Given the description of an element on the screen output the (x, y) to click on. 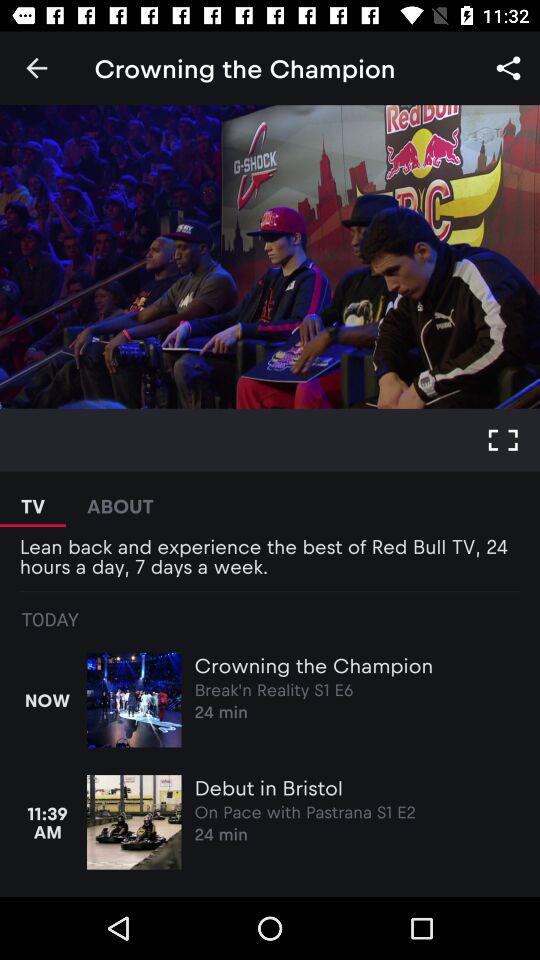
click on about  which is on right side of tv (119, 499)
select the button which is below the share button (503, 440)
select the button which is to the immediate right of crowning the champion in the header (508, 68)
